Given the description of an element on the screen output the (x, y) to click on. 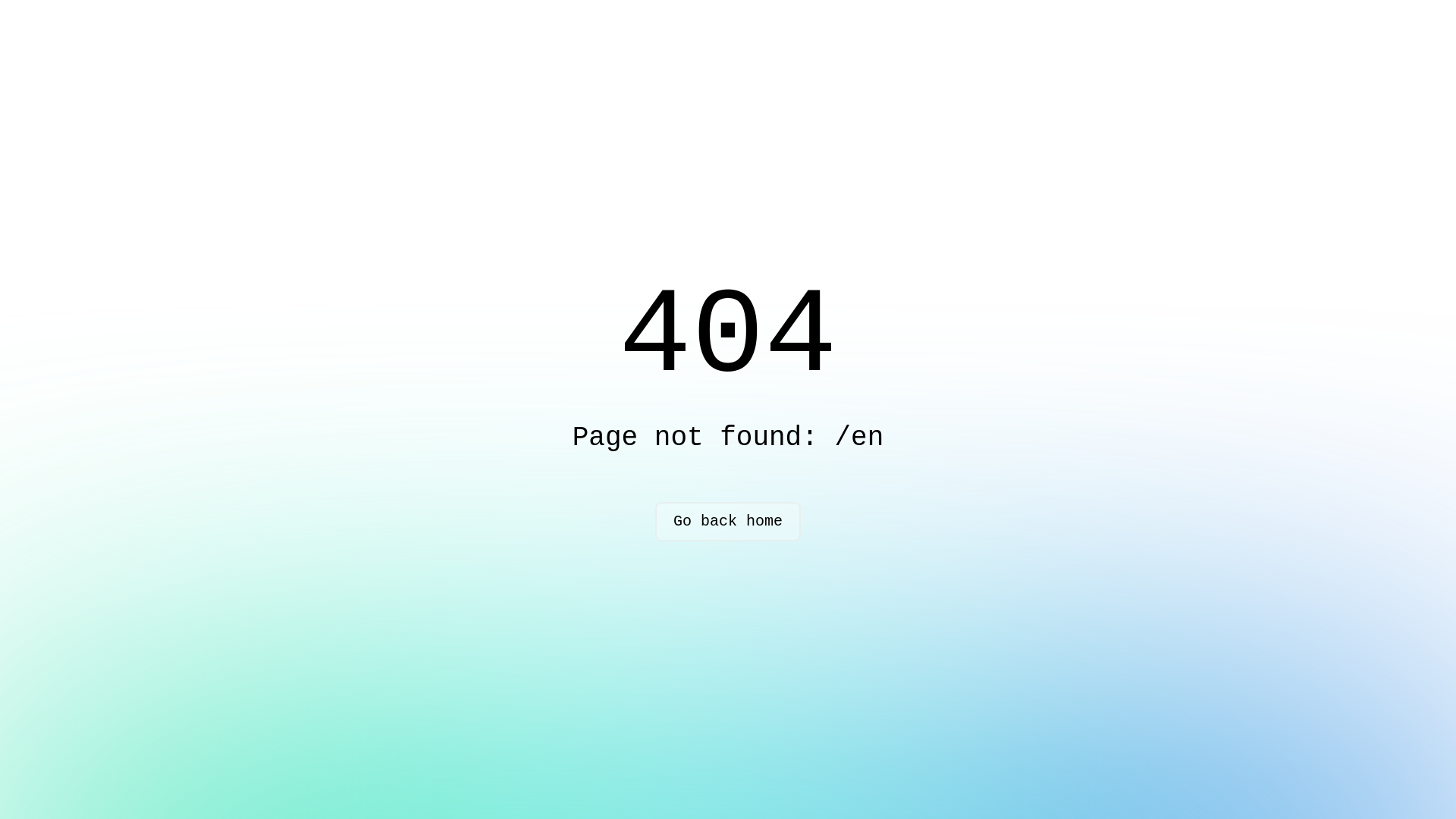
Go back home Element type: text (727, 521)
